Given the description of an element on the screen output the (x, y) to click on. 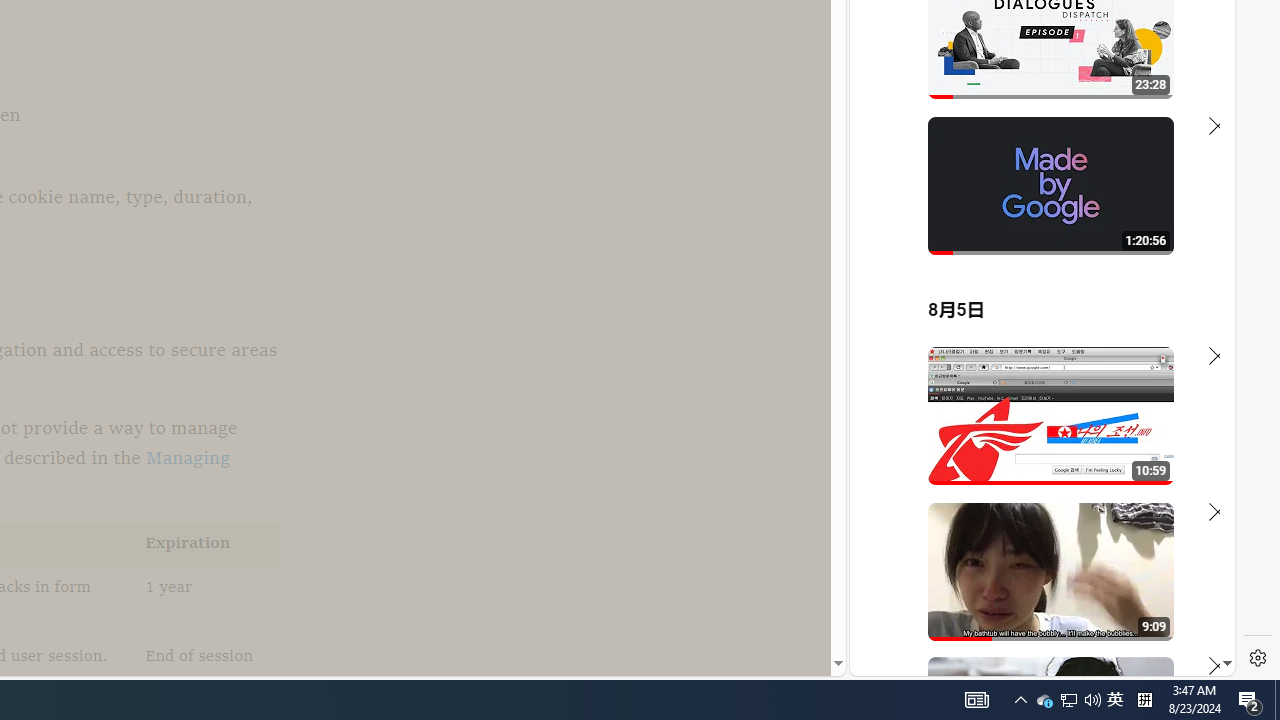
User Promoted Notification Area (1068, 699)
Notification Chevron (1020, 699)
you (1115, 699)
Action Center, 2 new notifications (1034, 609)
Q2790: 100% (1250, 699)
Expiration (1092, 699)
Click to scroll right (207, 544)
End of session (1196, 83)
Actions for this site (1044, 699)
Tray Input Indicator - Chinese (Simplified, China) (207, 669)
